Given the description of an element on the screen output the (x, y) to click on. 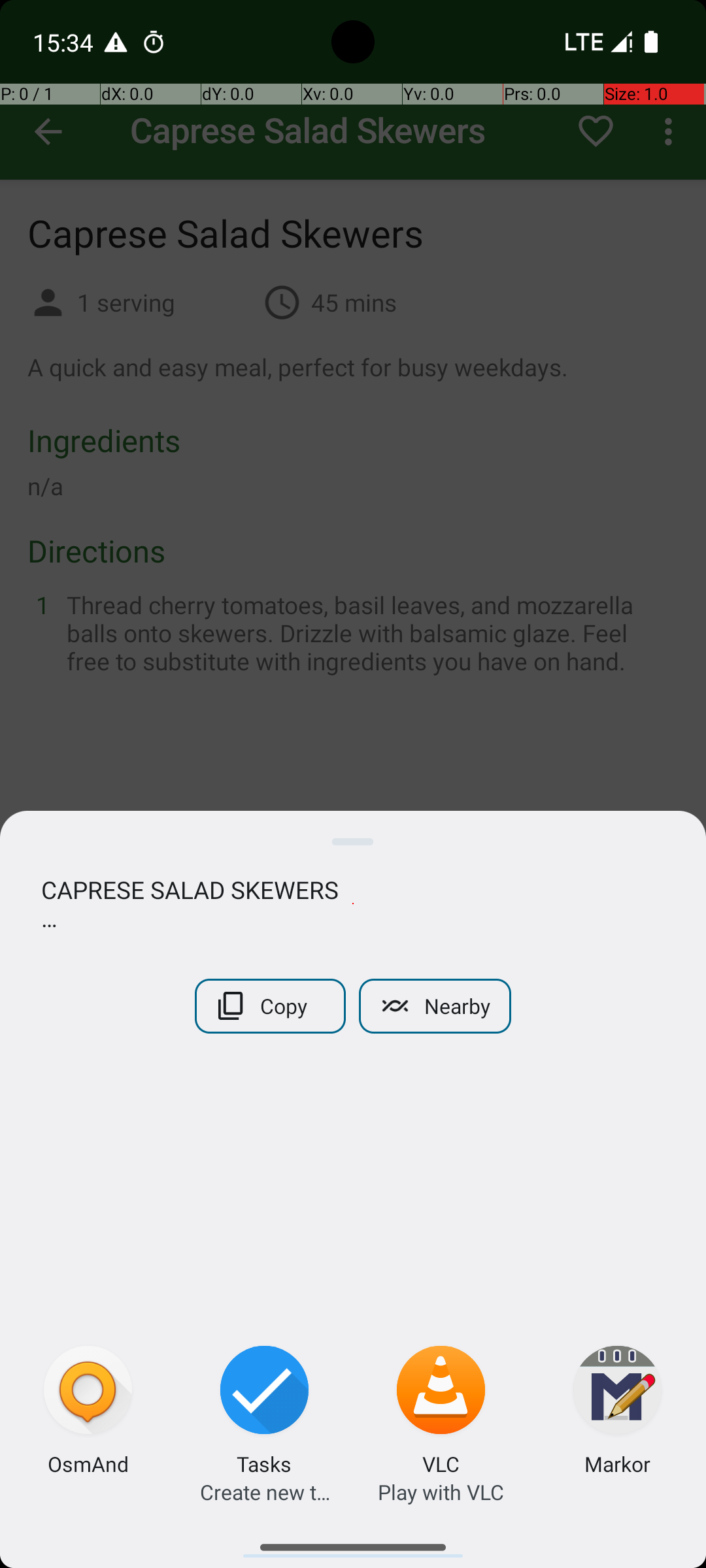
Apps list Element type: android.widget.ImageView (353, 1541)
CAPRESE SALAD SKEWERS

Servings: 1 serving
Time: 45 mins

A quick and easy meal, perfect for busy weekdays.

Ingredients:
- n/a

Directions:
1. Thread cherry tomatoes, basil leaves, and mozzarella balls onto skewers. Drizzle with balsamic glaze. Feel free to substitute with ingredients you have on hand.

Shared with https://play.google.com/store/apps/details?id=com.flauschcode.broccoli Element type: android.widget.TextView (352, 903)
Copy Element type: android.widget.Button (269, 1005)
Nearby Element type: android.widget.Button (434, 1005)
OsmAnd Element type: android.widget.TextView (87, 1463)
Create new task Element type: android.widget.TextView (264, 1491)
Play with VLC Element type: android.widget.TextView (440, 1491)
